Given the description of an element on the screen output the (x, y) to click on. 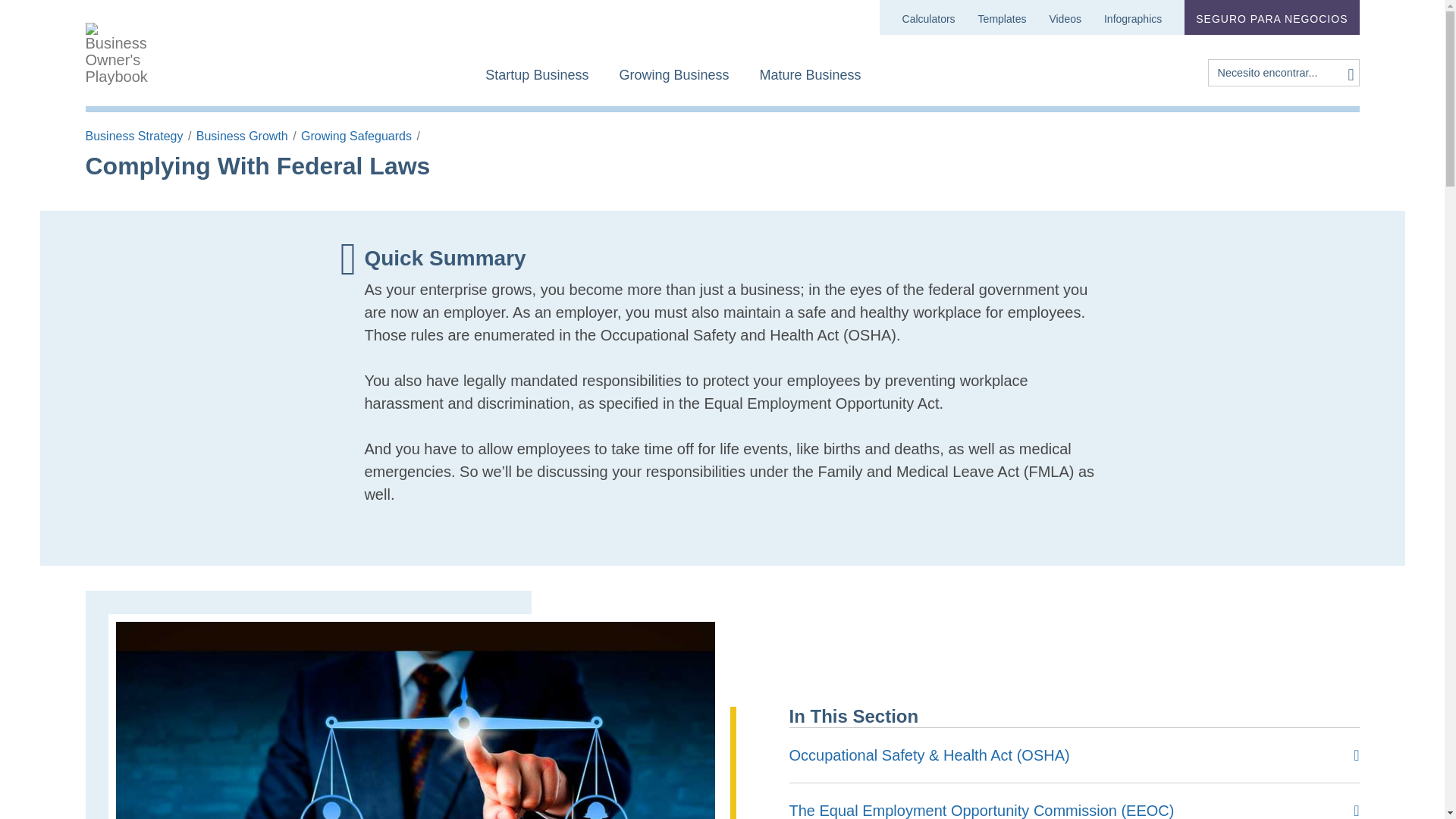
Seguro para negocios (1271, 17)
Videos (1064, 17)
Templates (1002, 17)
Startup Business (536, 81)
Videos (1064, 17)
Mature Business (763, 70)
Infographics (810, 81)
Startup Business (1132, 17)
Calculators (536, 81)
Mature Business (928, 17)
Growing Business (810, 81)
Templates (673, 81)
SEGURO PARA NEGOCIOS (1002, 17)
Growing Business (1271, 17)
